Given the description of an element on the screen output the (x, y) to click on. 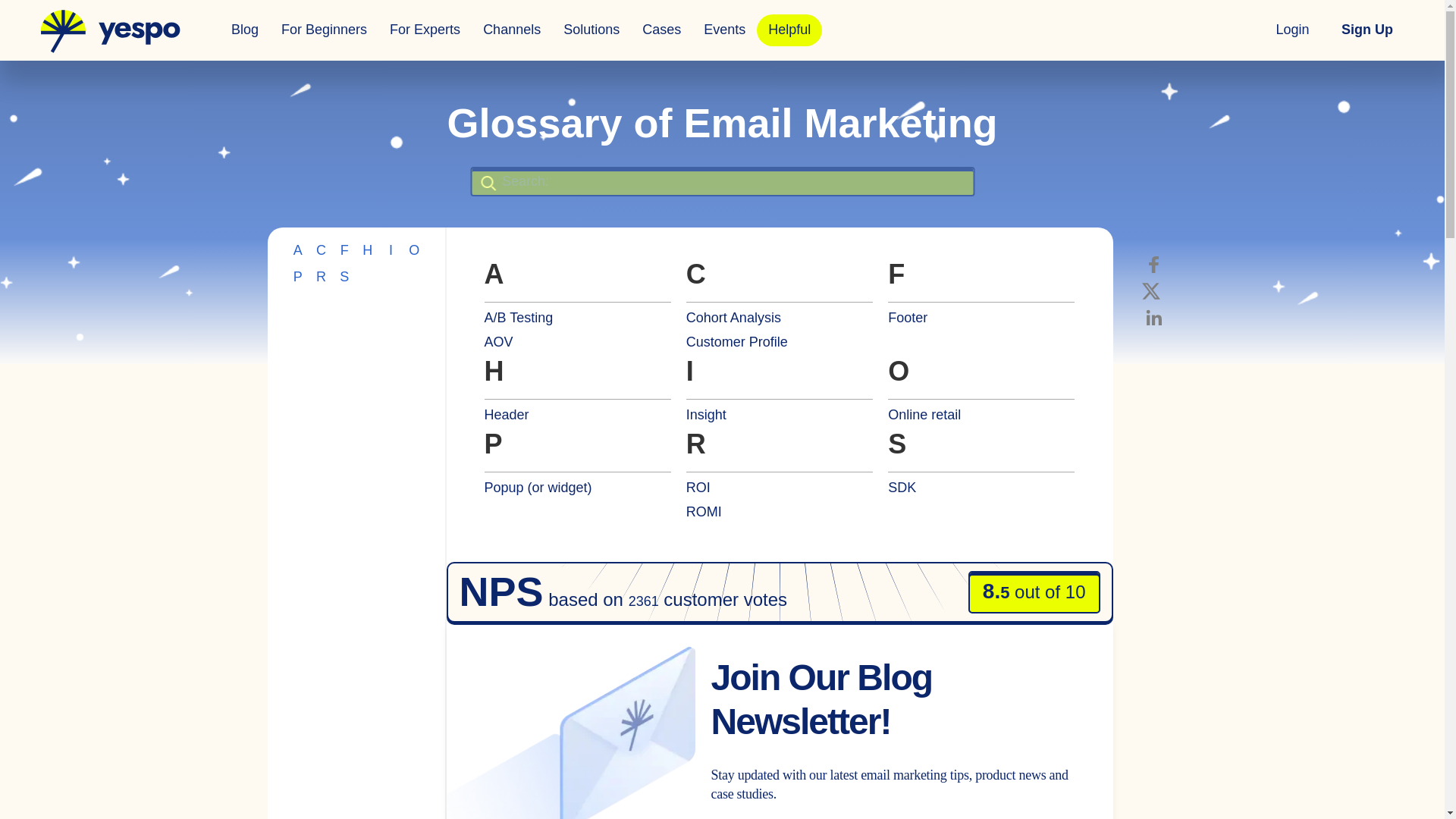
Solutions (590, 30)
Cases (661, 30)
LinkedIn (1153, 317)
Helpful (789, 29)
For Experts (424, 30)
Channels (511, 30)
Events (725, 30)
For Beginners (323, 30)
Twitter (1150, 290)
Facebook (1153, 264)
